Given the description of an element on the screen output the (x, y) to click on. 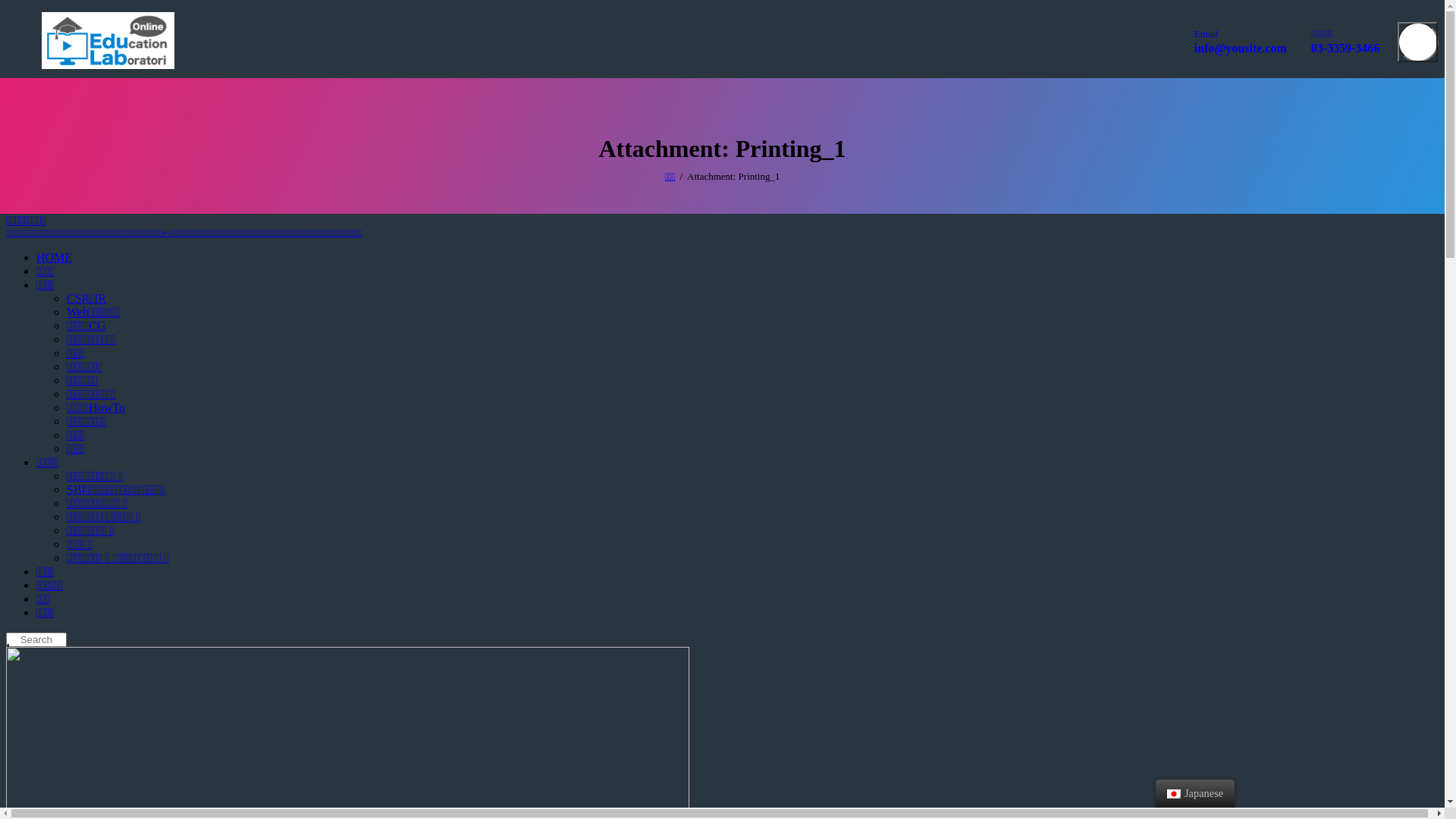
HOME Element type: text (54, 257)
Email
info@yousite.com Element type: text (1237, 42)
Japanese Element type: text (1194, 793)
Japanese Element type: hover (1173, 793)
